Given the description of an element on the screen output the (x, y) to click on. 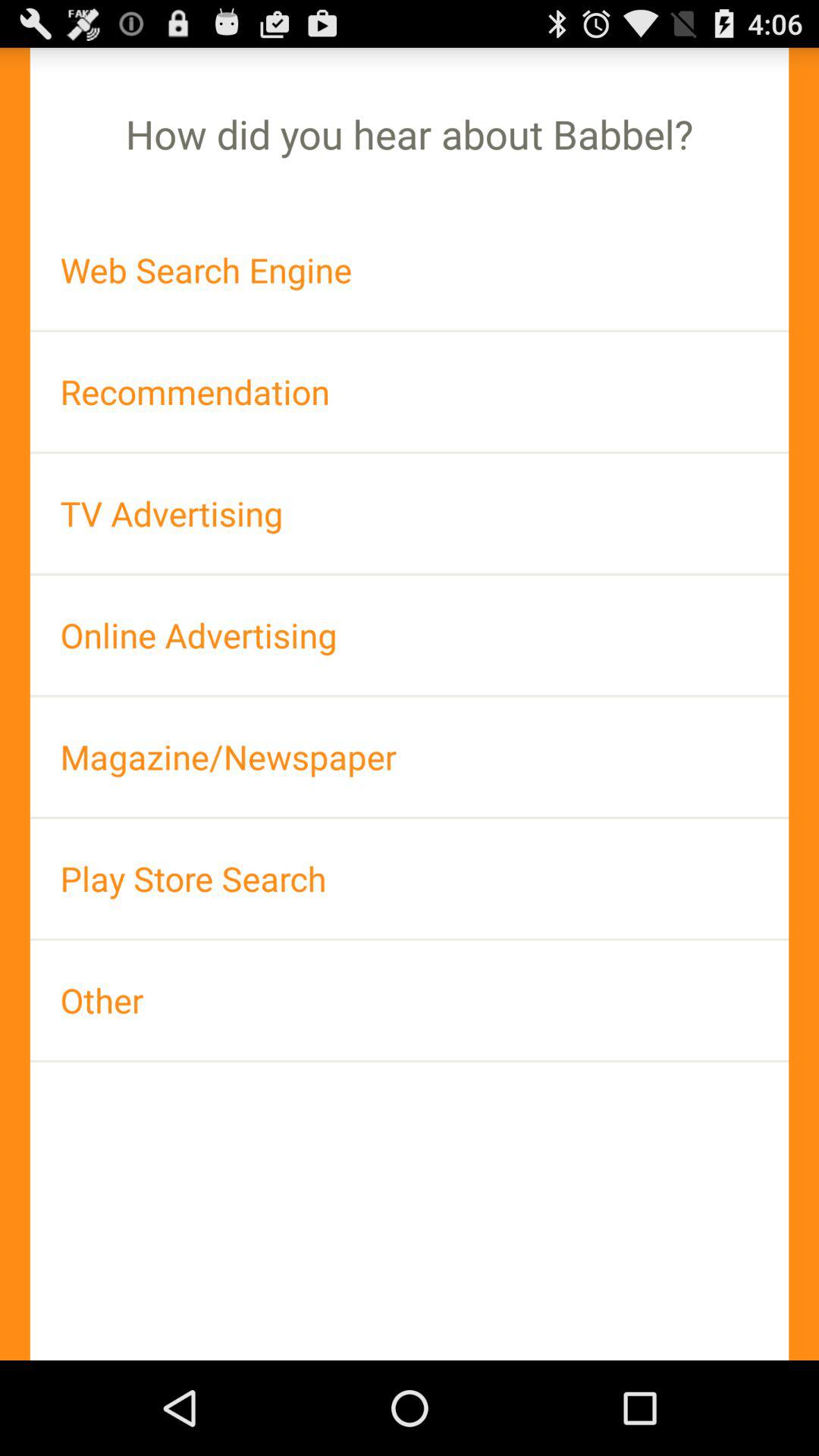
turn off item below recommendation item (409, 513)
